Given the description of an element on the screen output the (x, y) to click on. 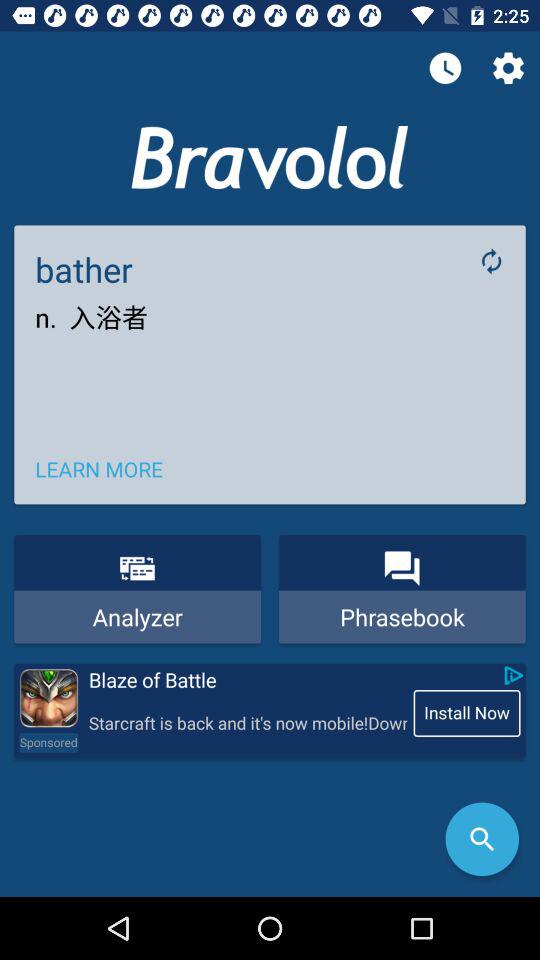
game picture (48, 698)
